Given the description of an element on the screen output the (x, y) to click on. 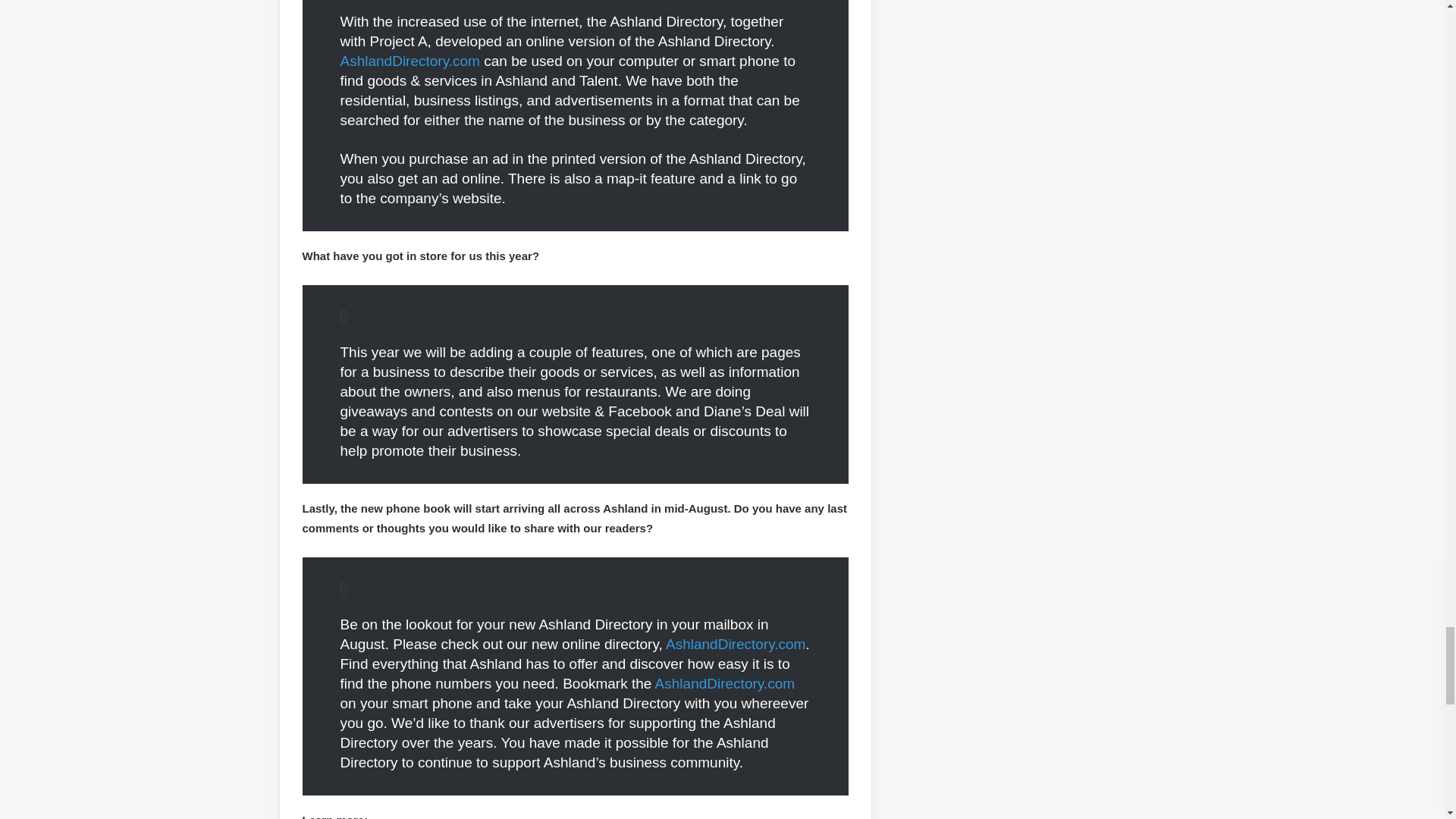
AshlandDirectory.com (735, 643)
AshlandDirectory.com (724, 683)
AshlandDirectory.com (409, 60)
